Given the description of an element on the screen output the (x, y) to click on. 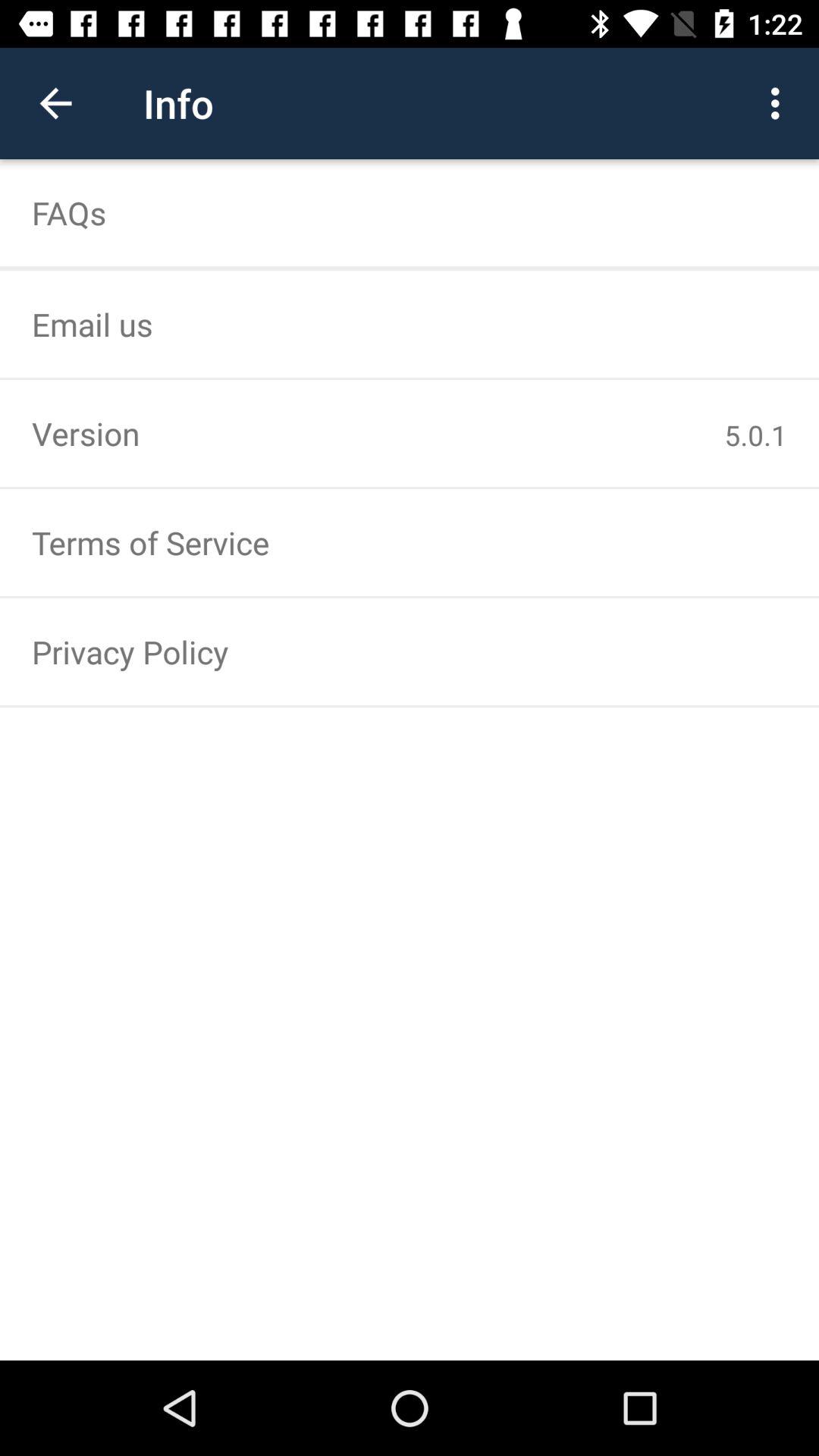
tap terms of service icon (409, 542)
